Given the description of an element on the screen output the (x, y) to click on. 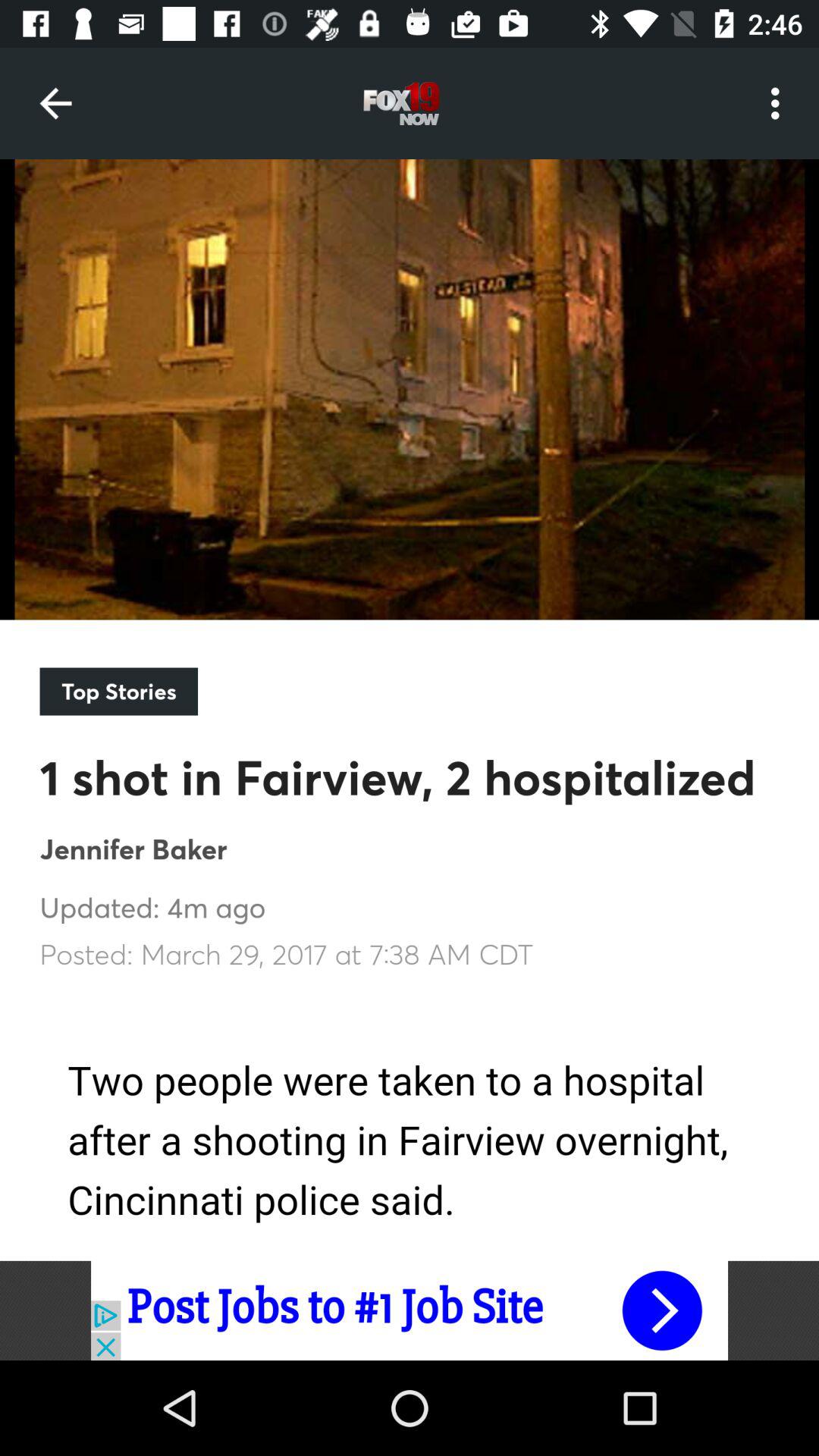
click for more info (409, 1310)
